Given the description of an element on the screen output the (x, y) to click on. 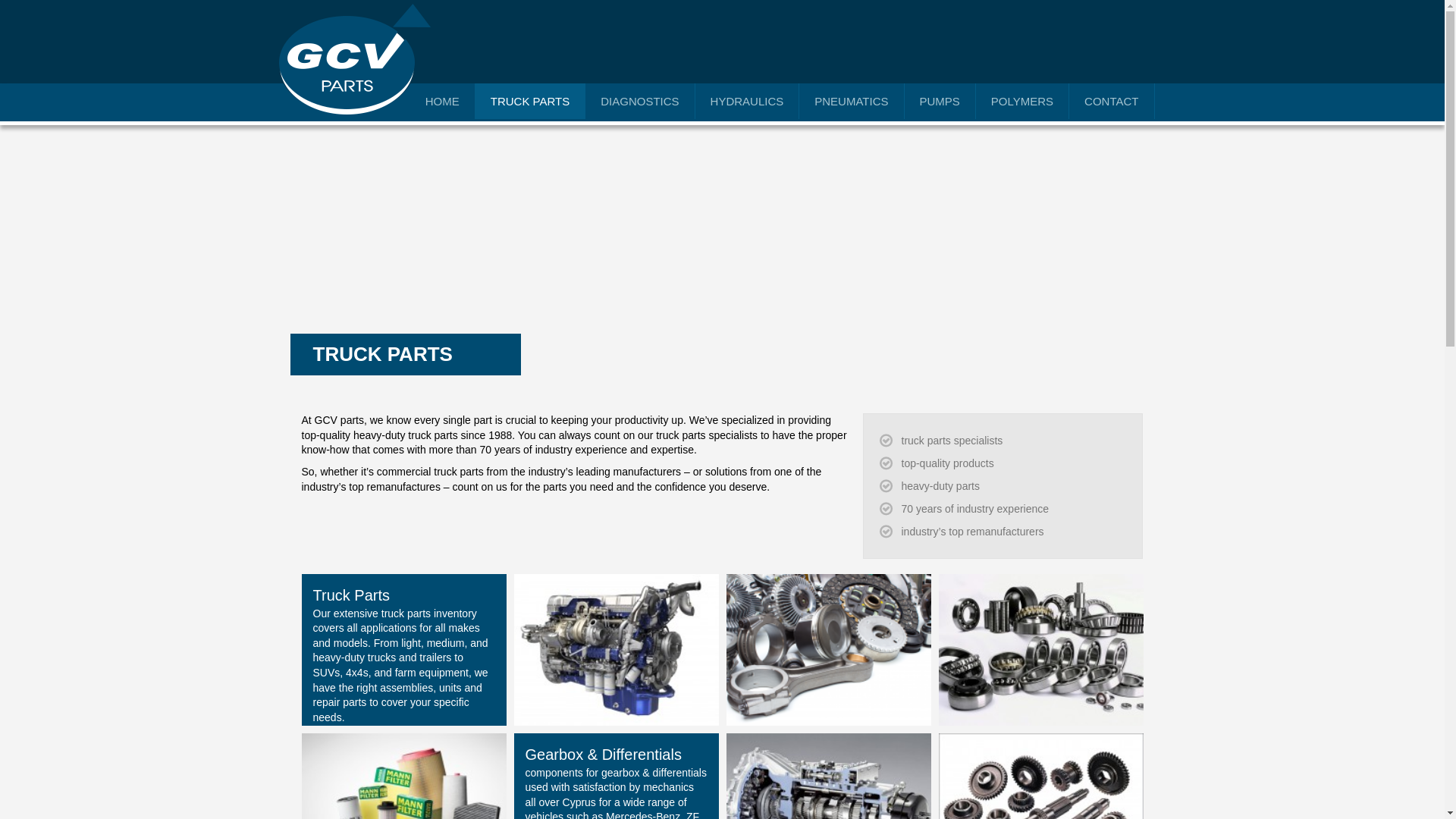
PNEUMATICS (851, 100)
Truck Parts (828, 649)
Gearbox (828, 808)
HOME (443, 100)
POLYMERS (1021, 100)
TRUCK PARTS (530, 100)
DIAGNOSTICS (639, 100)
Gearbox (1040, 808)
CONTACT (1111, 100)
PUMPS (939, 100)
